Given the description of an element on the screen output the (x, y) to click on. 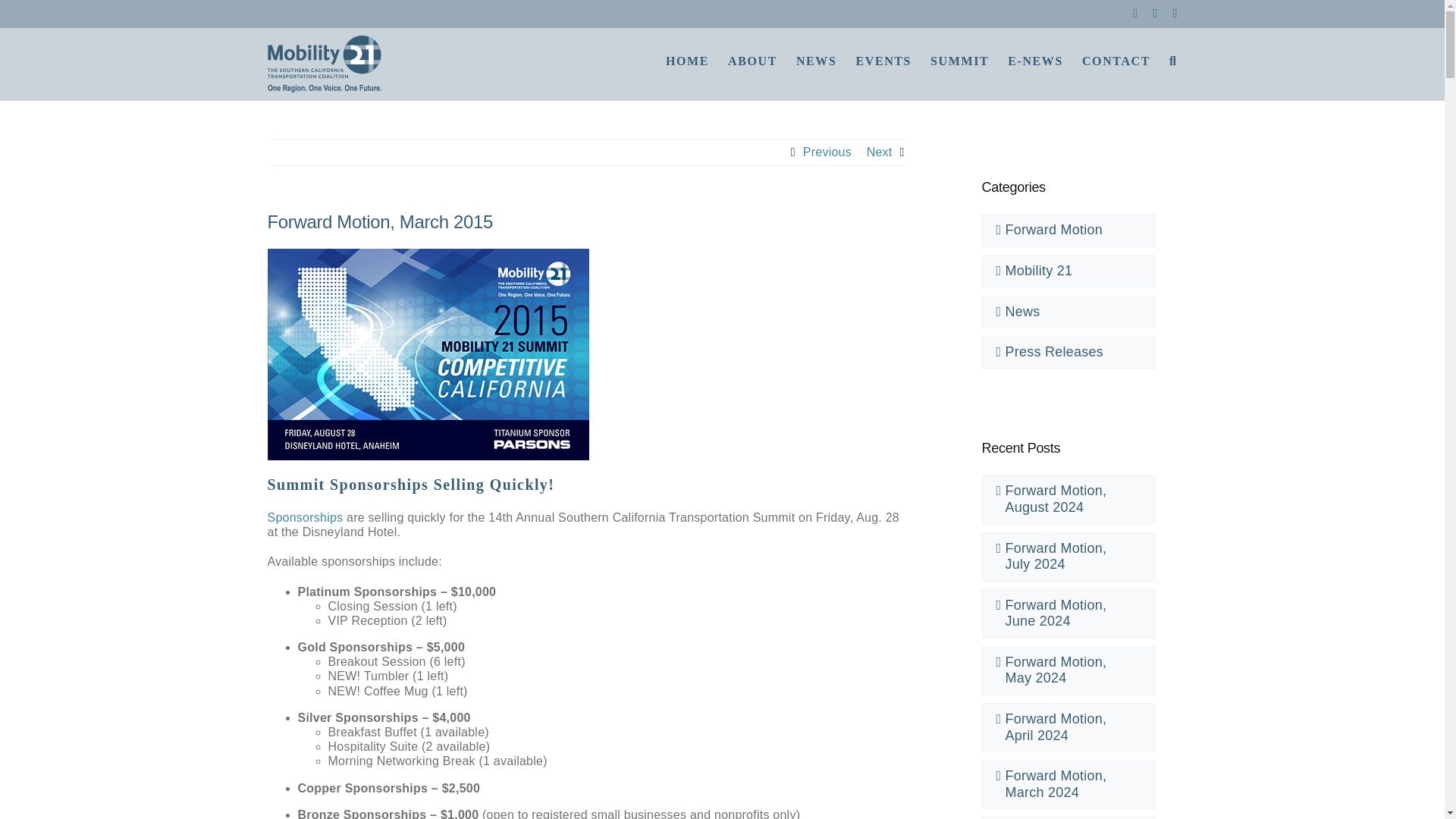
Next (879, 152)
SUMMIT (959, 59)
Sponsorships (304, 517)
Previous (827, 152)
CONTACT (1115, 59)
